Given the description of an element on the screen output the (x, y) to click on. 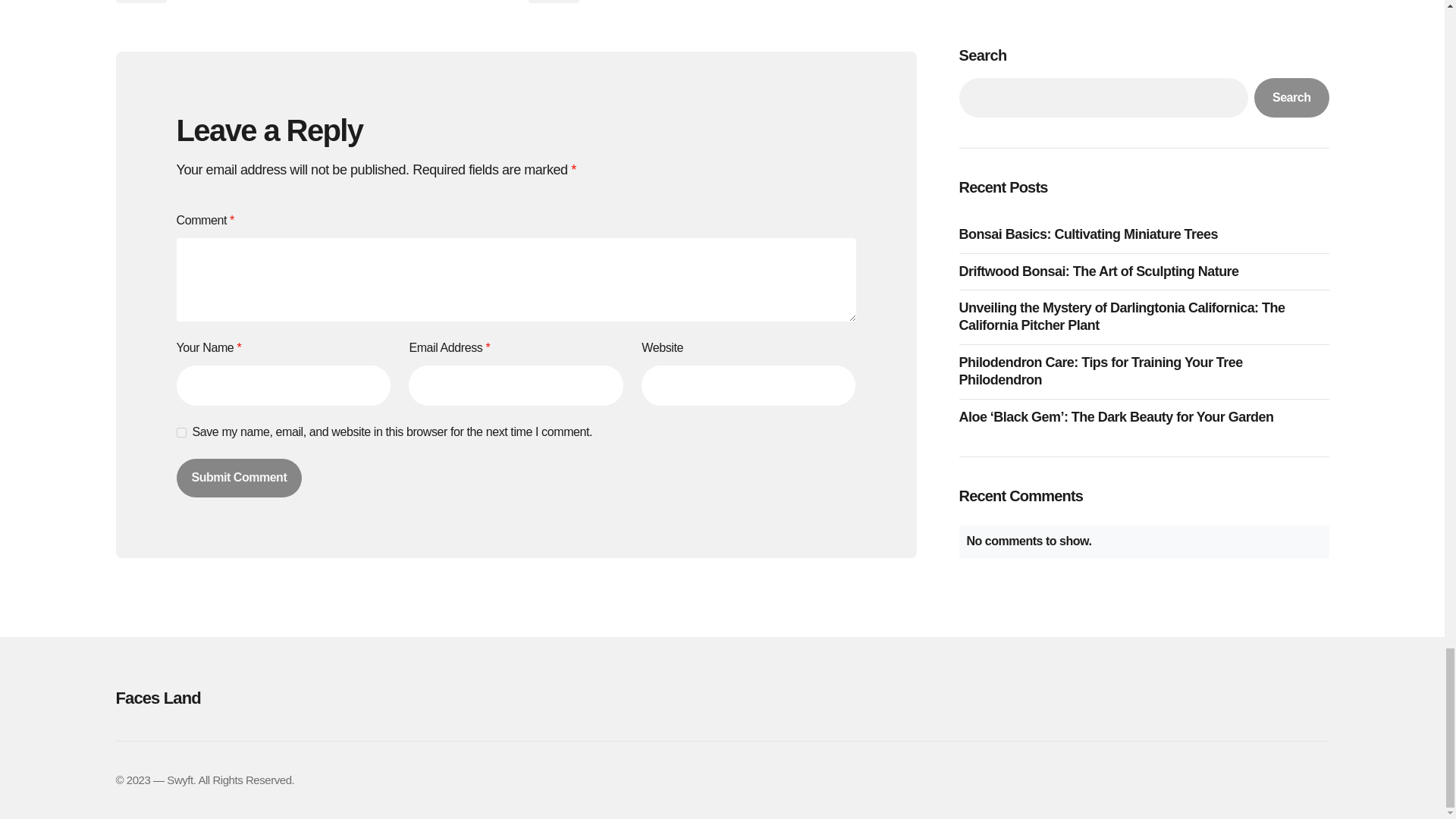
Submit Comment (238, 477)
Bonsai (140, 1)
yes (181, 432)
Faces Land (305, 697)
Bonsai (552, 1)
